Given the description of an element on the screen output the (x, y) to click on. 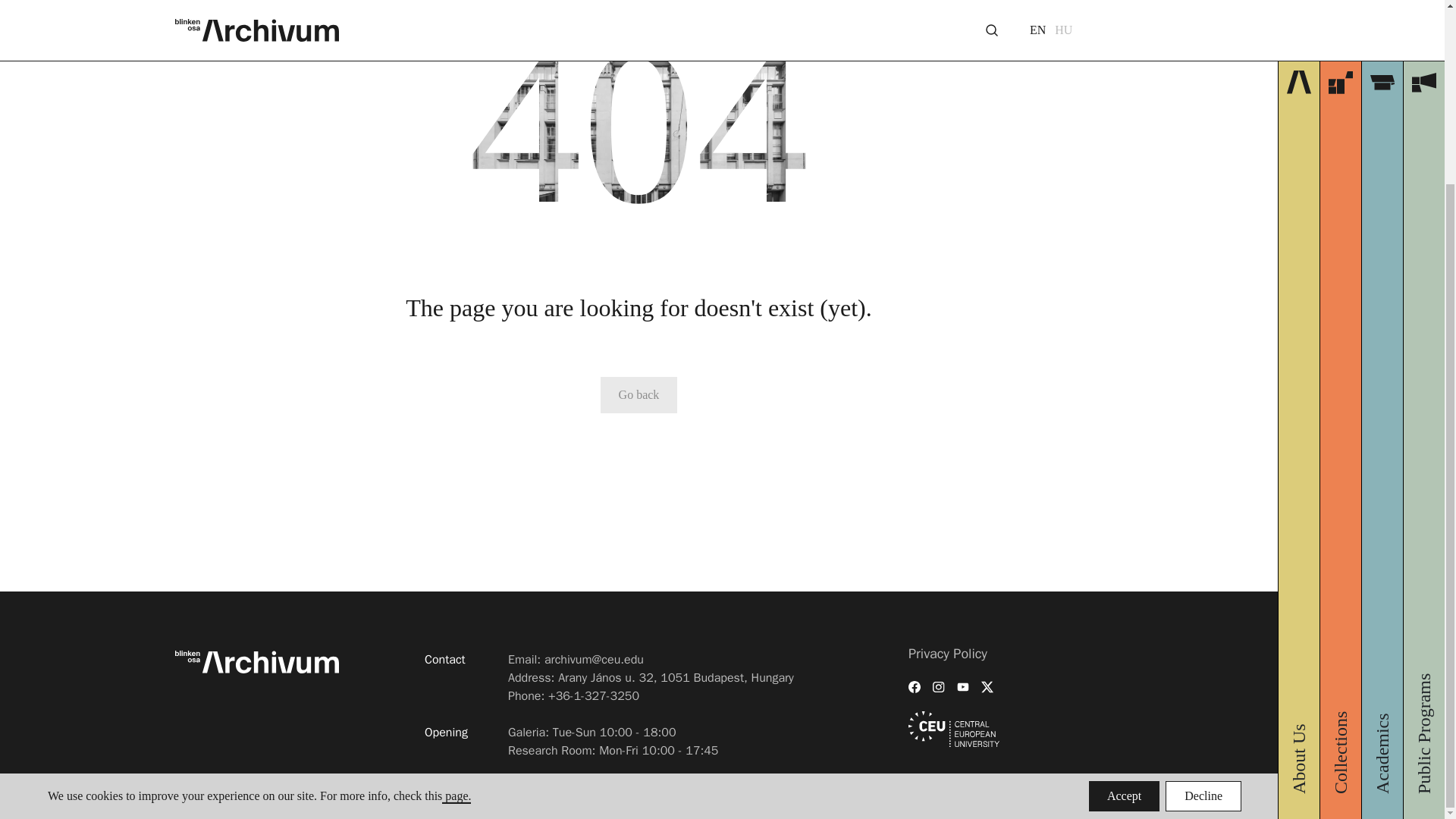
Decline (1203, 568)
Go back (638, 394)
Privacy Policy (947, 653)
Accept (1123, 568)
page (456, 568)
